Given the description of an element on the screen output the (x, y) to click on. 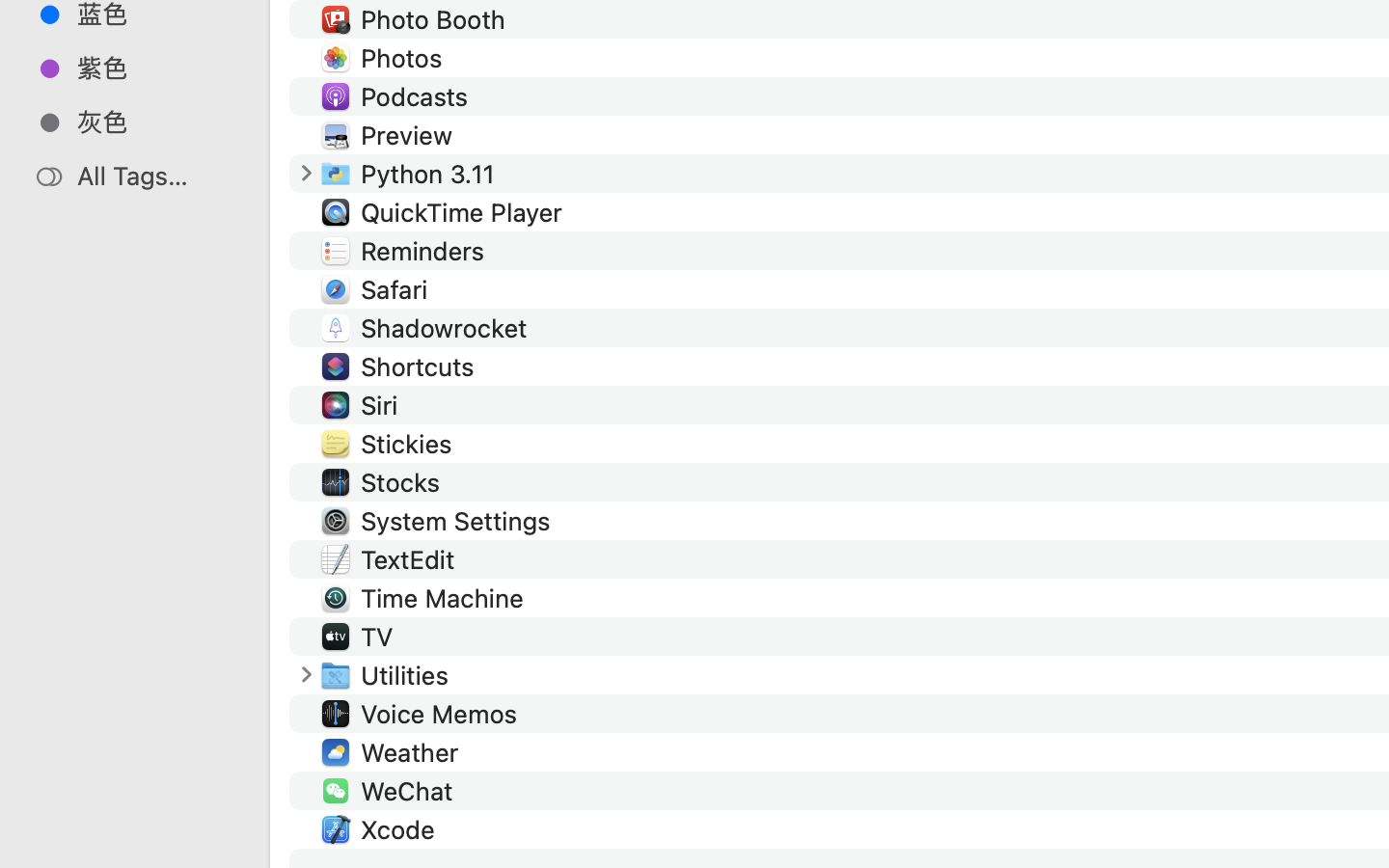
WeChat Element type: AXTextField (410, 790)
Xcode Element type: AXTextField (401, 828)
Stocks Element type: AXTextField (404, 481)
Shortcuts Element type: AXTextField (421, 366)
紫色 Element type: AXStaticText (155, 67)
